Given the description of an element on the screen output the (x, y) to click on. 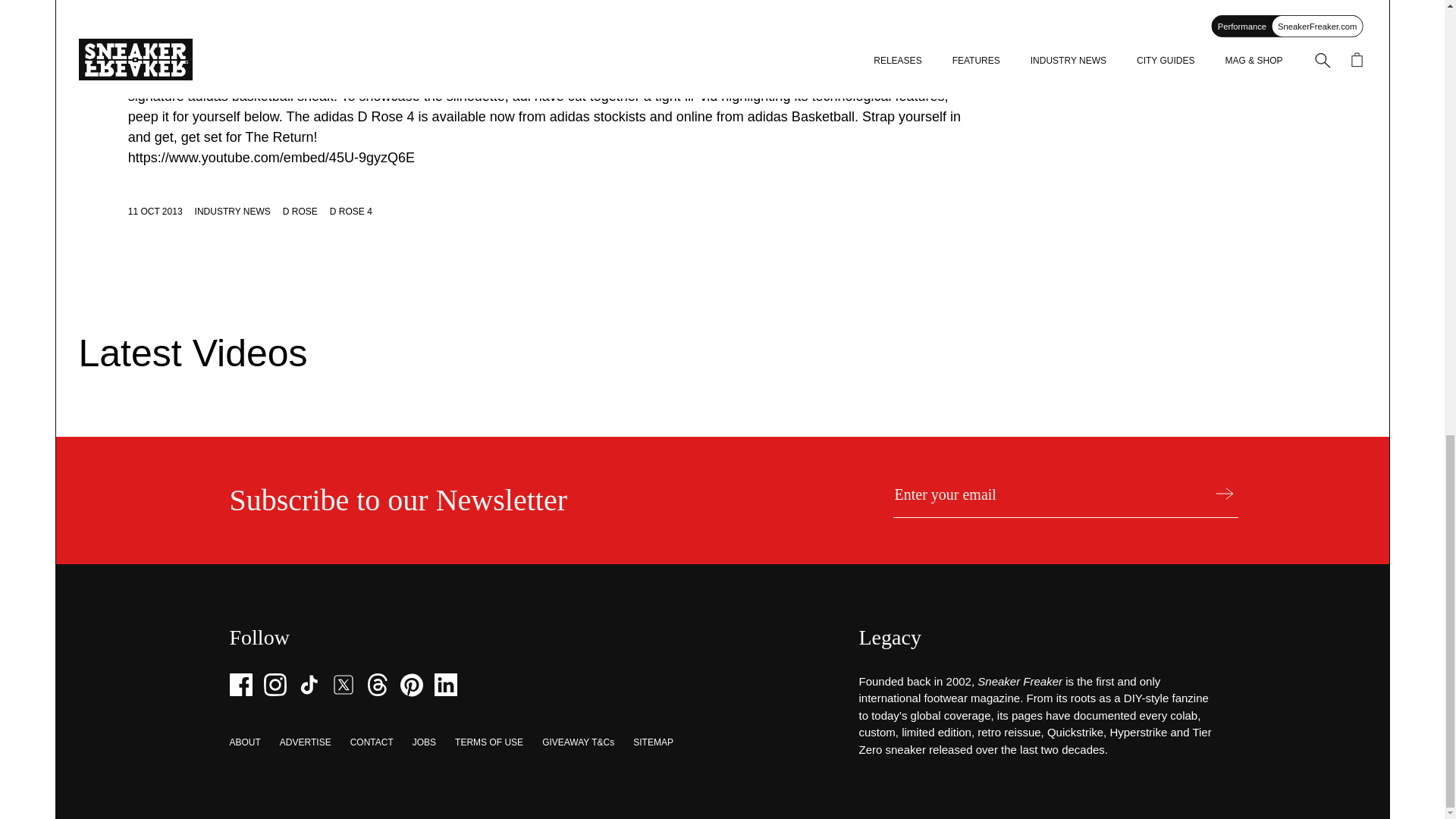
ADVERTISE (305, 742)
ABOUT (244, 742)
TERMS OF USE (488, 742)
SITEMAP (652, 742)
D ROSE (299, 211)
CONTACT (371, 742)
INDUSTRY NEWS (232, 211)
D ROSE 4 (351, 211)
JOBS (423, 742)
